Given the description of an element on the screen output the (x, y) to click on. 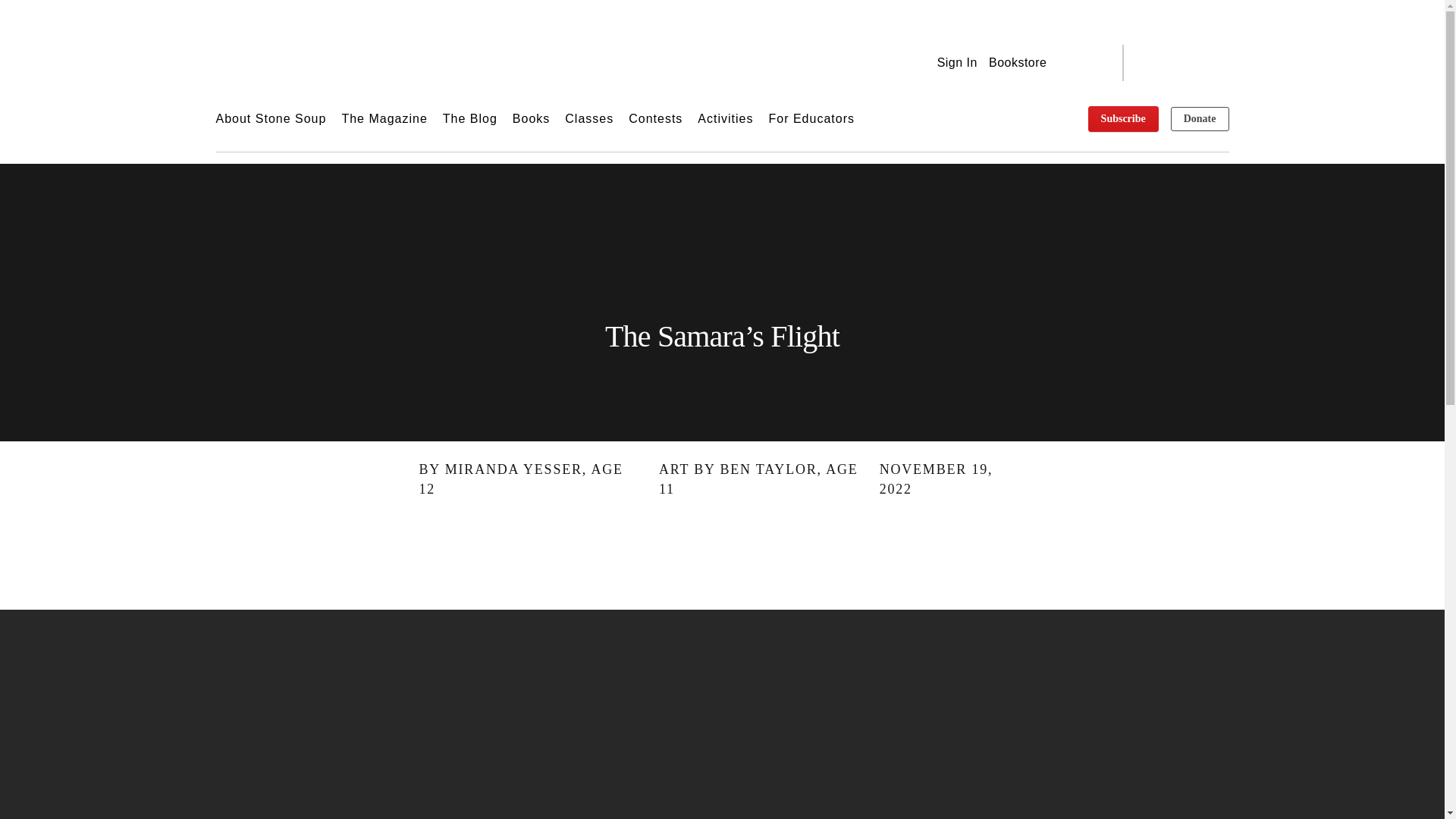
For Educators (810, 119)
Contests (655, 119)
Classes (588, 119)
The Blog (469, 119)
Sign In (956, 62)
Donate (1199, 119)
Bookstore (1017, 62)
The Magazine (383, 119)
Subscribe (1122, 118)
Books (531, 119)
Activities (724, 119)
About Stone Soup (270, 119)
